Given the description of an element on the screen output the (x, y) to click on. 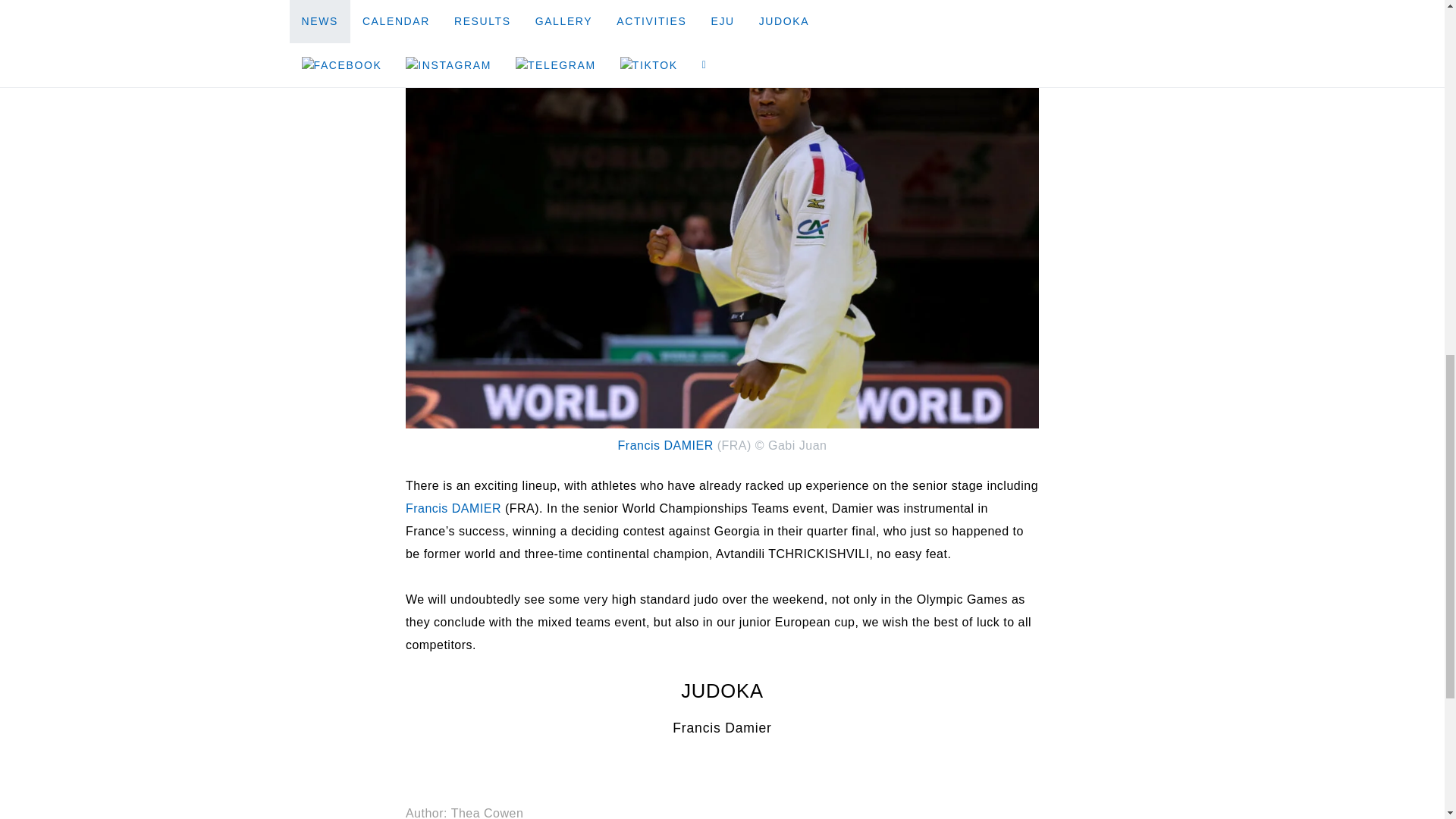
Francis DAMIER (665, 445)
Francis Damier (721, 727)
Francis DAMIER (453, 508)
